Given the description of an element on the screen output the (x, y) to click on. 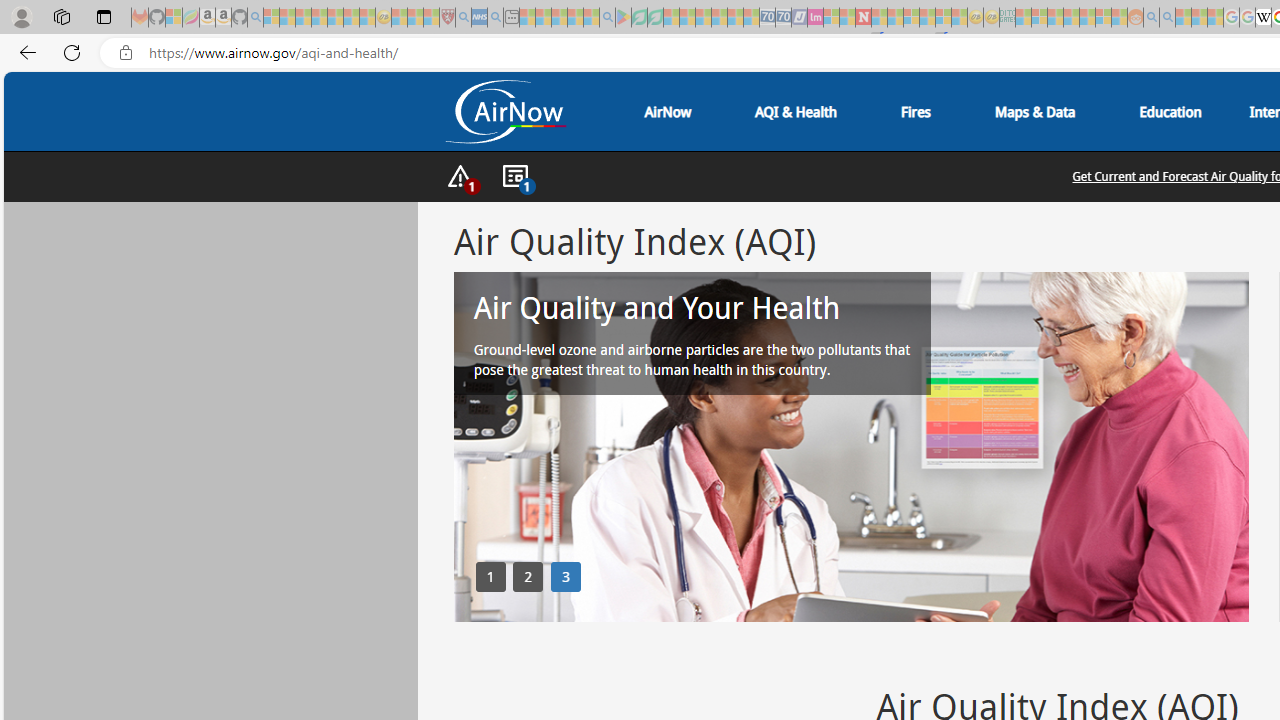
AutomationID: nav-announcements-toggle (514, 177)
